Given the description of an element on the screen output the (x, y) to click on. 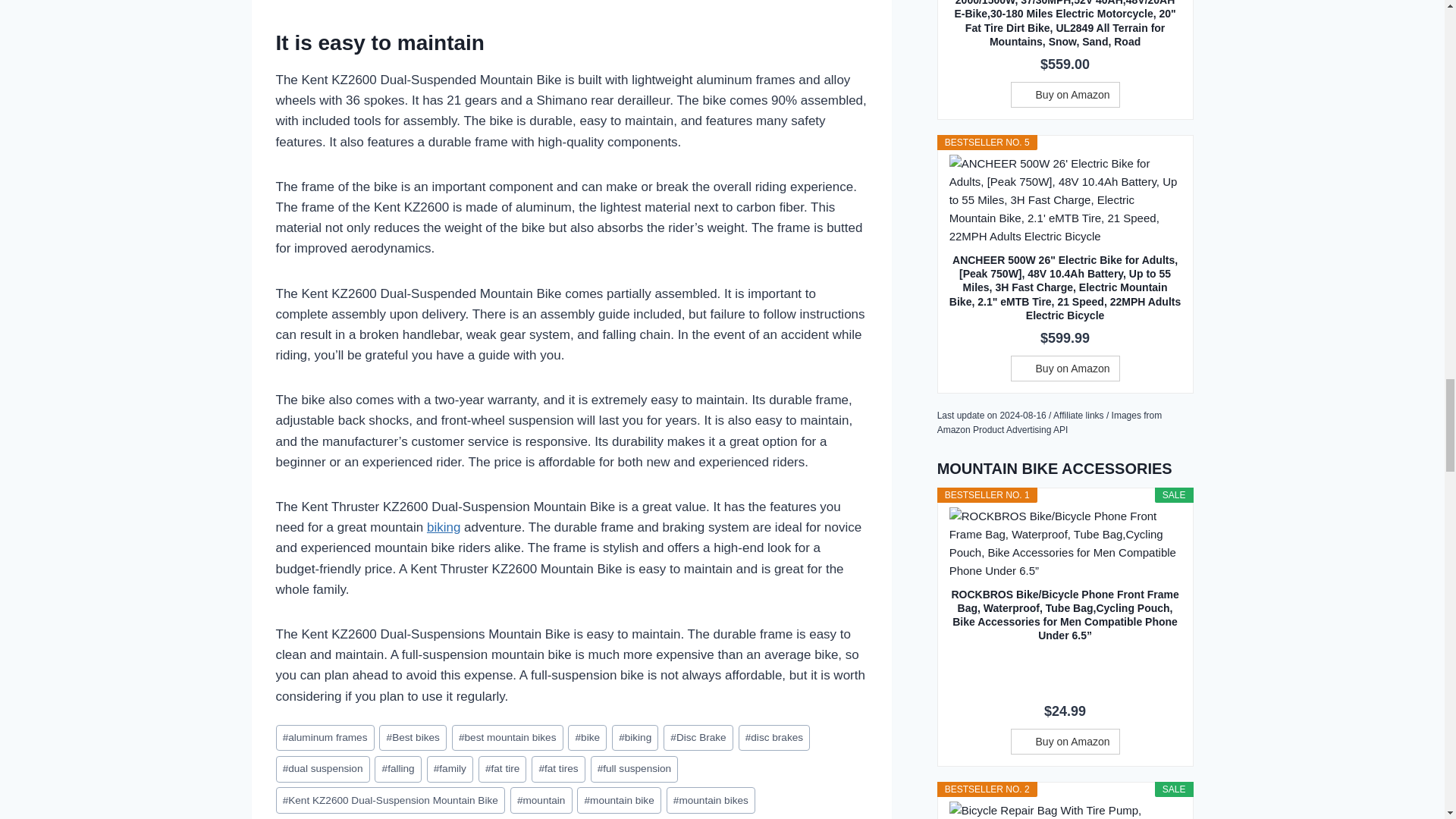
Disc Brake (698, 737)
biking (443, 527)
bike (587, 737)
best mountain bikes (507, 737)
aluminum frames (325, 737)
Posts tagged with biking (443, 527)
biking (634, 737)
Best bikes (412, 737)
